Given the description of an element on the screen output the (x, y) to click on. 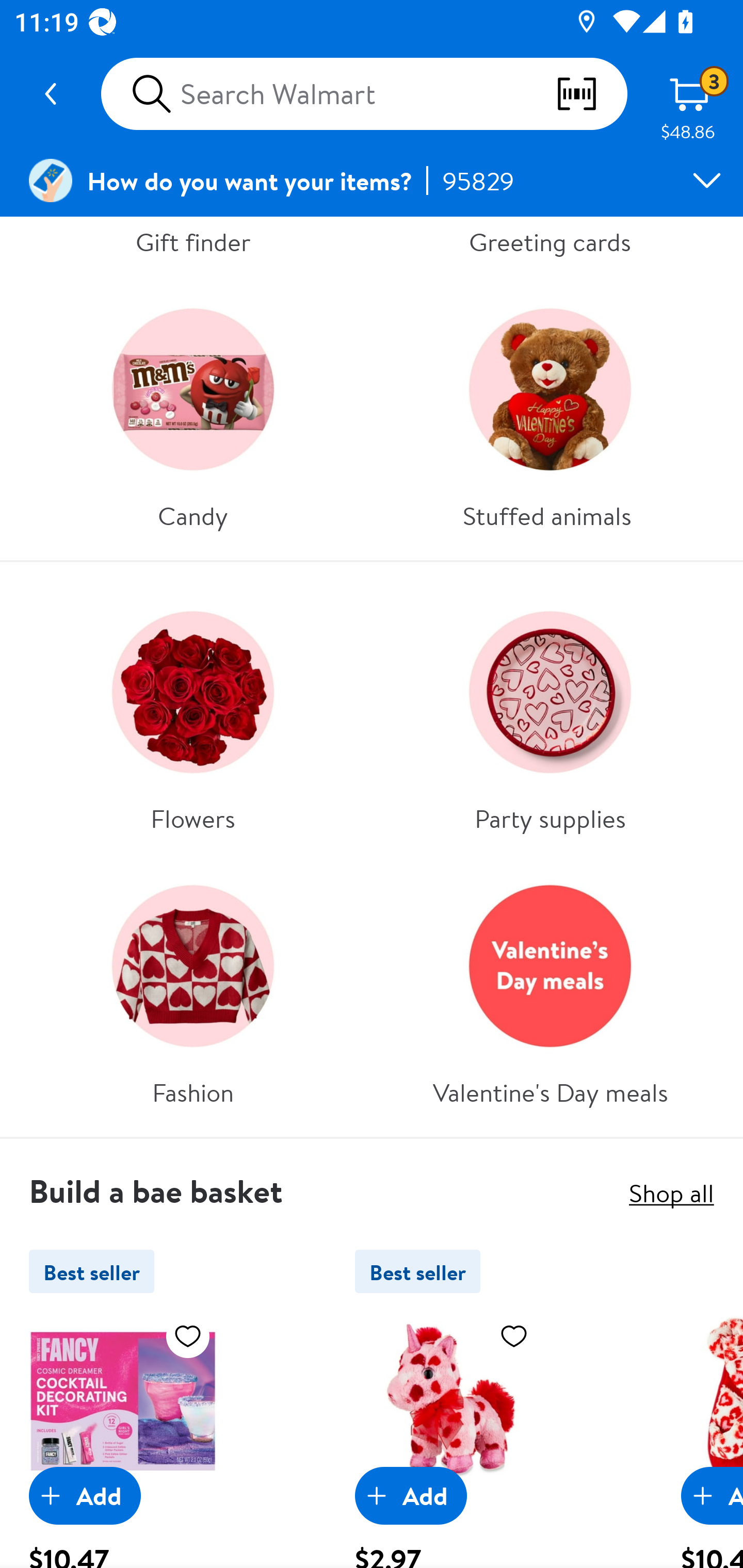
Navigate up (50, 93)
Search Walmart scan barcodes qr codes and more (364, 94)
scan barcodes qr codes and more (591, 94)
Candy (192, 410)
Stuffed animals  (549, 410)
Flowers (192, 713)
Party supplies (549, 713)
Fashion (192, 987)
Valentine's Day meals (549, 987)
Shop all Shop all,Build a bae basket (671, 1193)
